Given the description of an element on the screen output the (x, y) to click on. 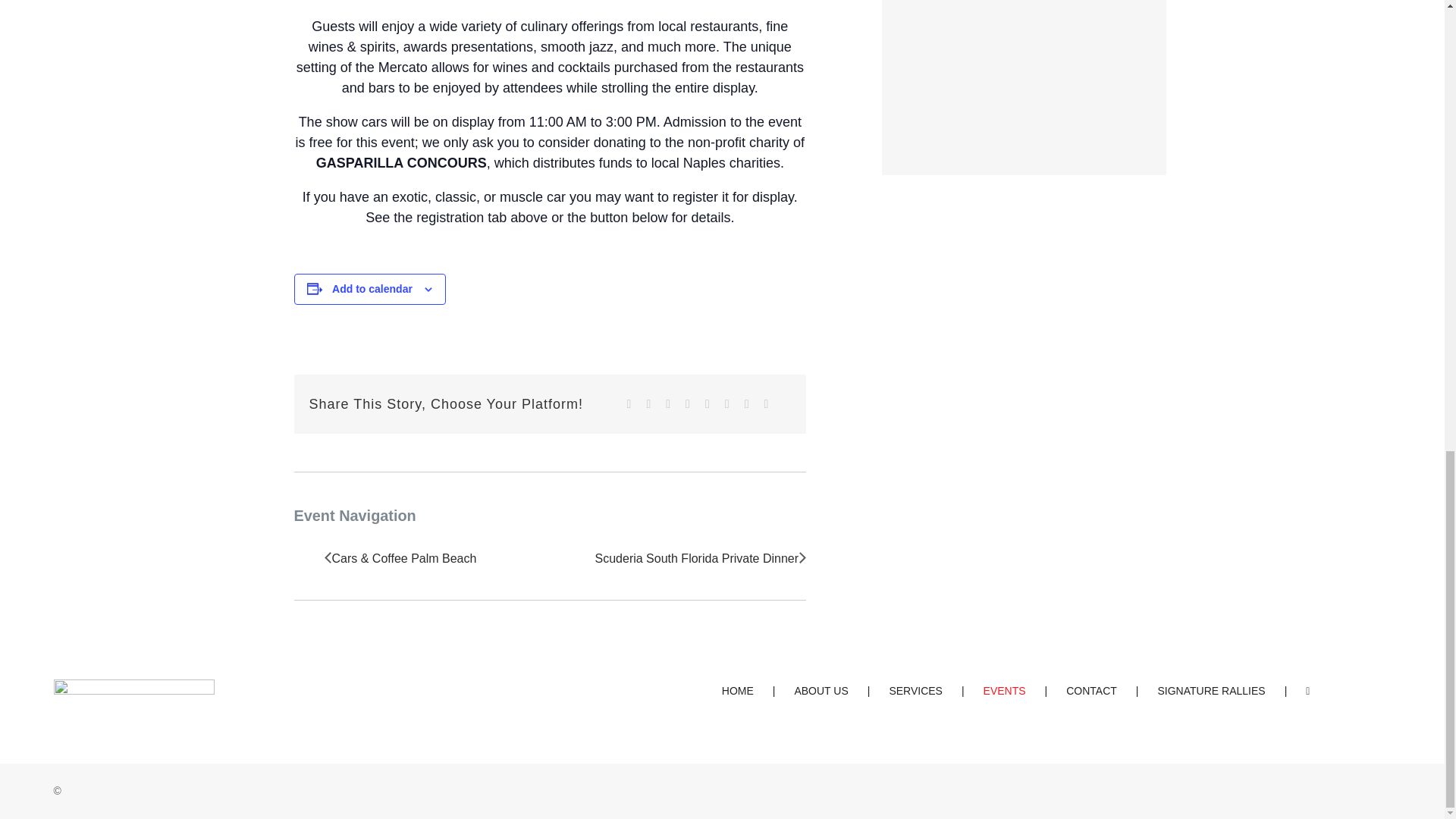
Add to calendar (371, 288)
